Given the description of an element on the screen output the (x, y) to click on. 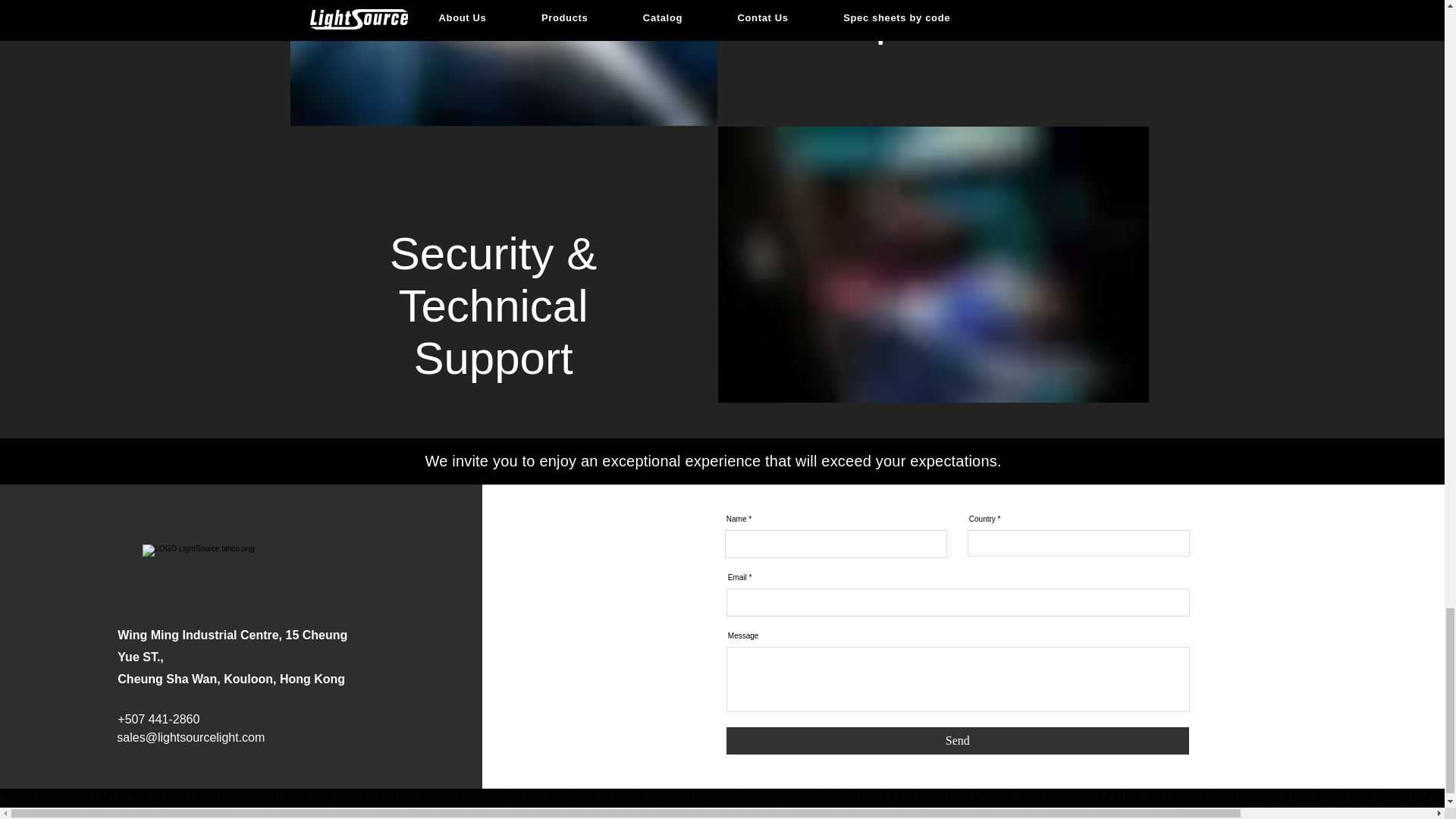
Send (957, 740)
